Given the description of an element on the screen output the (x, y) to click on. 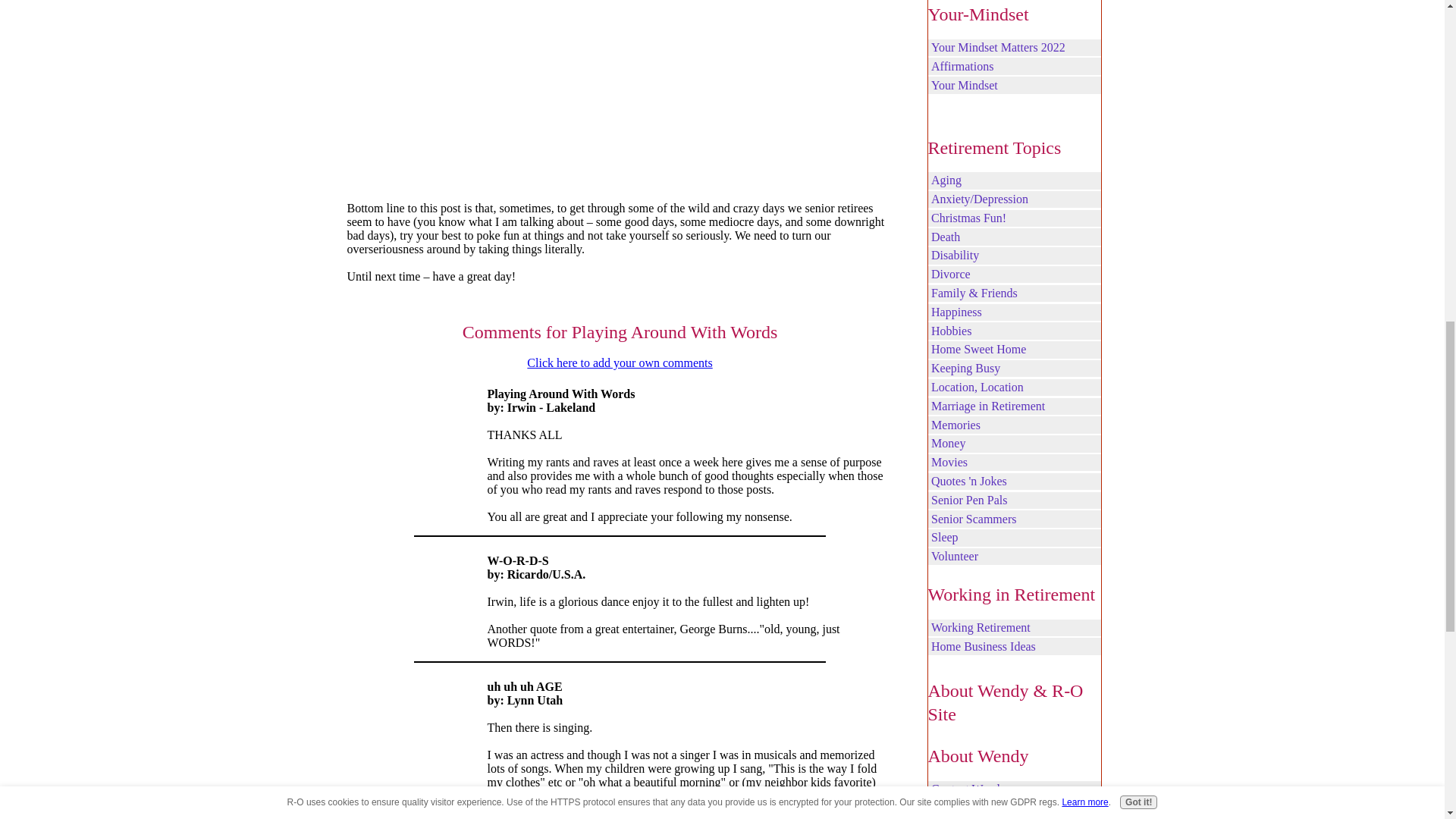
Advertisement (620, 87)
